Given the description of an element on the screen output the (x, y) to click on. 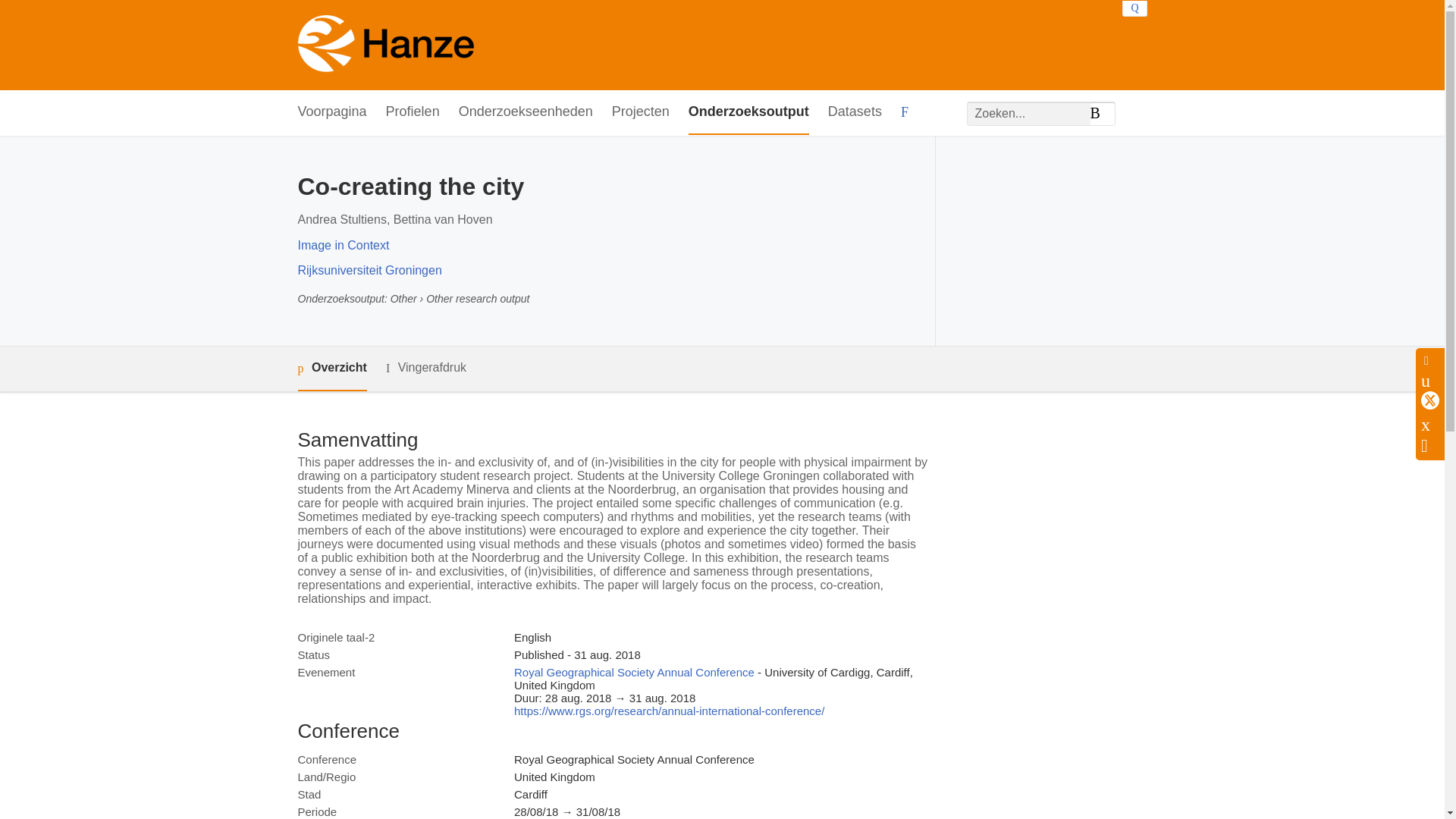
Image in Context (342, 245)
Rijksuniversiteit Groningen (369, 269)
Profielen (412, 112)
Onderzoekseenheden (525, 112)
Royal Geographical Society Annual Conference (633, 671)
Datasets (855, 112)
Onderzoeksoutput (748, 112)
Vingerafdruk (425, 367)
Overzicht (331, 368)
